Given the description of an element on the screen output the (x, y) to click on. 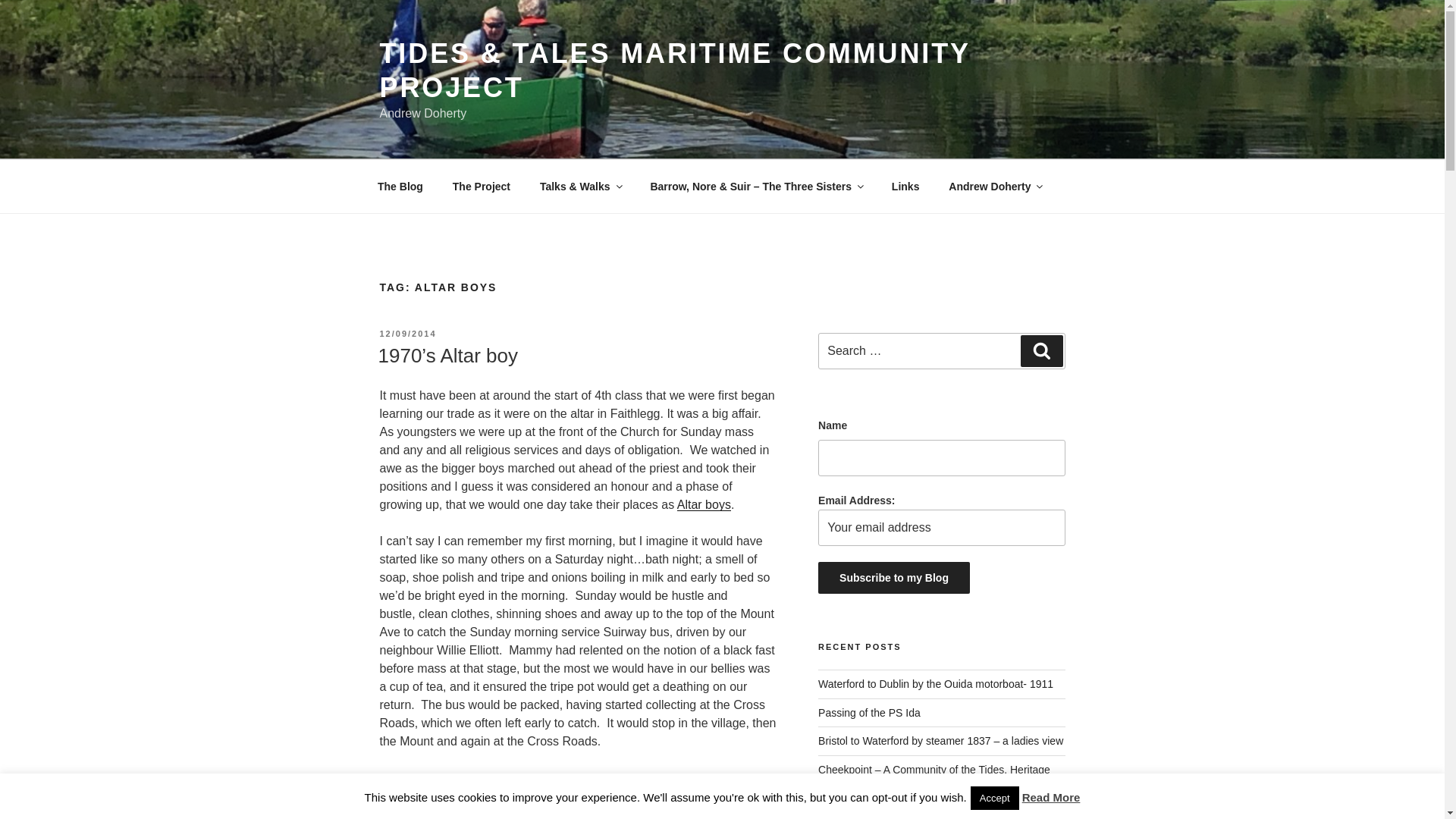
The Project (480, 186)
Search (1041, 350)
Andrew Doherty (995, 186)
Subscribe to my Blog (893, 577)
The Blog (399, 186)
Altar boys (703, 504)
Links (905, 186)
